Given the description of an element on the screen output the (x, y) to click on. 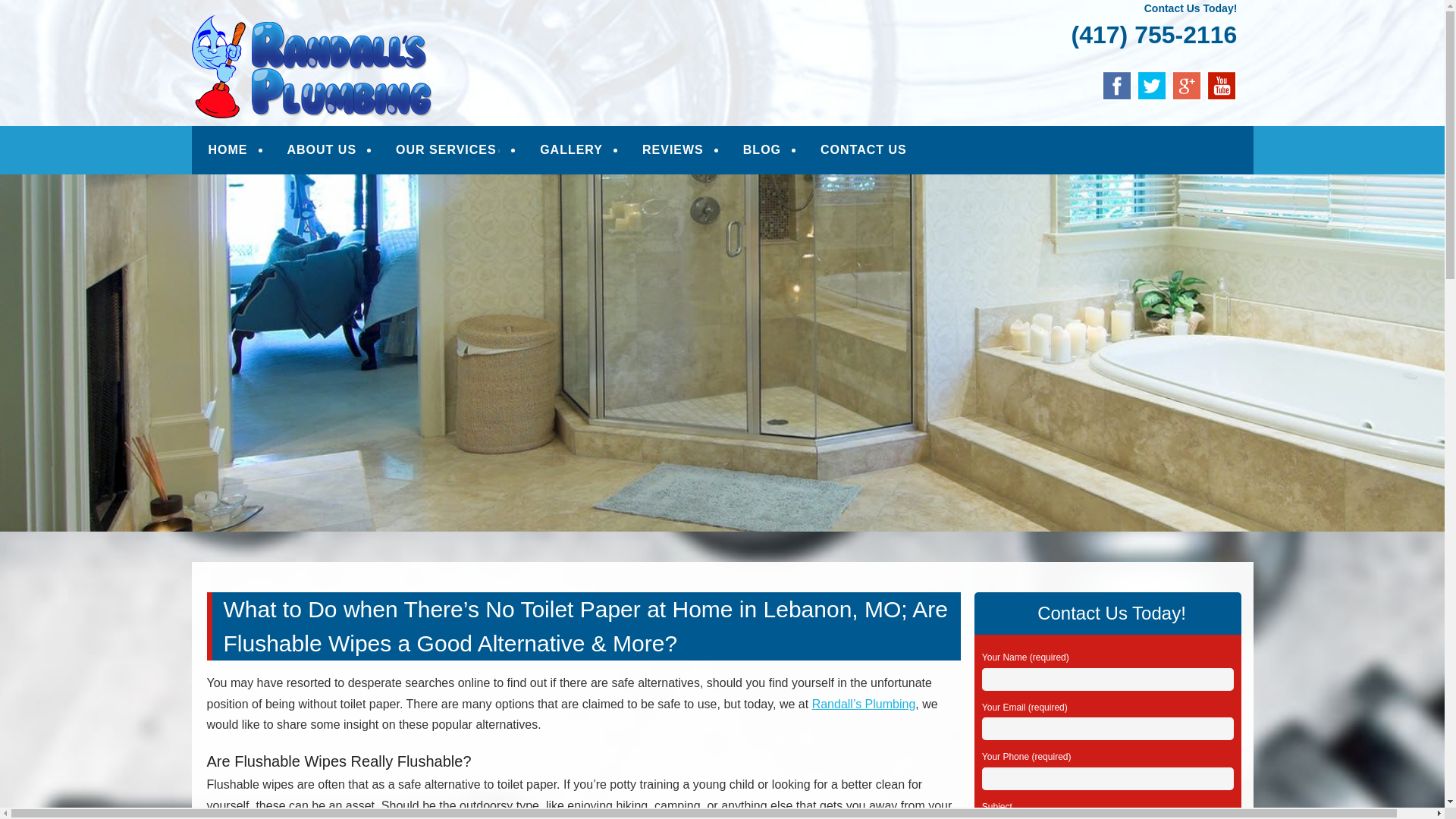
OUR SERVICES (448, 150)
CONTACT US (863, 150)
REVIEWS (672, 150)
HOME (227, 150)
Randalls Plumbing (351, 32)
ABOUT US (321, 150)
BLOG (762, 150)
GALLERY (571, 150)
RANDALLS PLUMBING (351, 32)
